Given the description of an element on the screen output the (x, y) to click on. 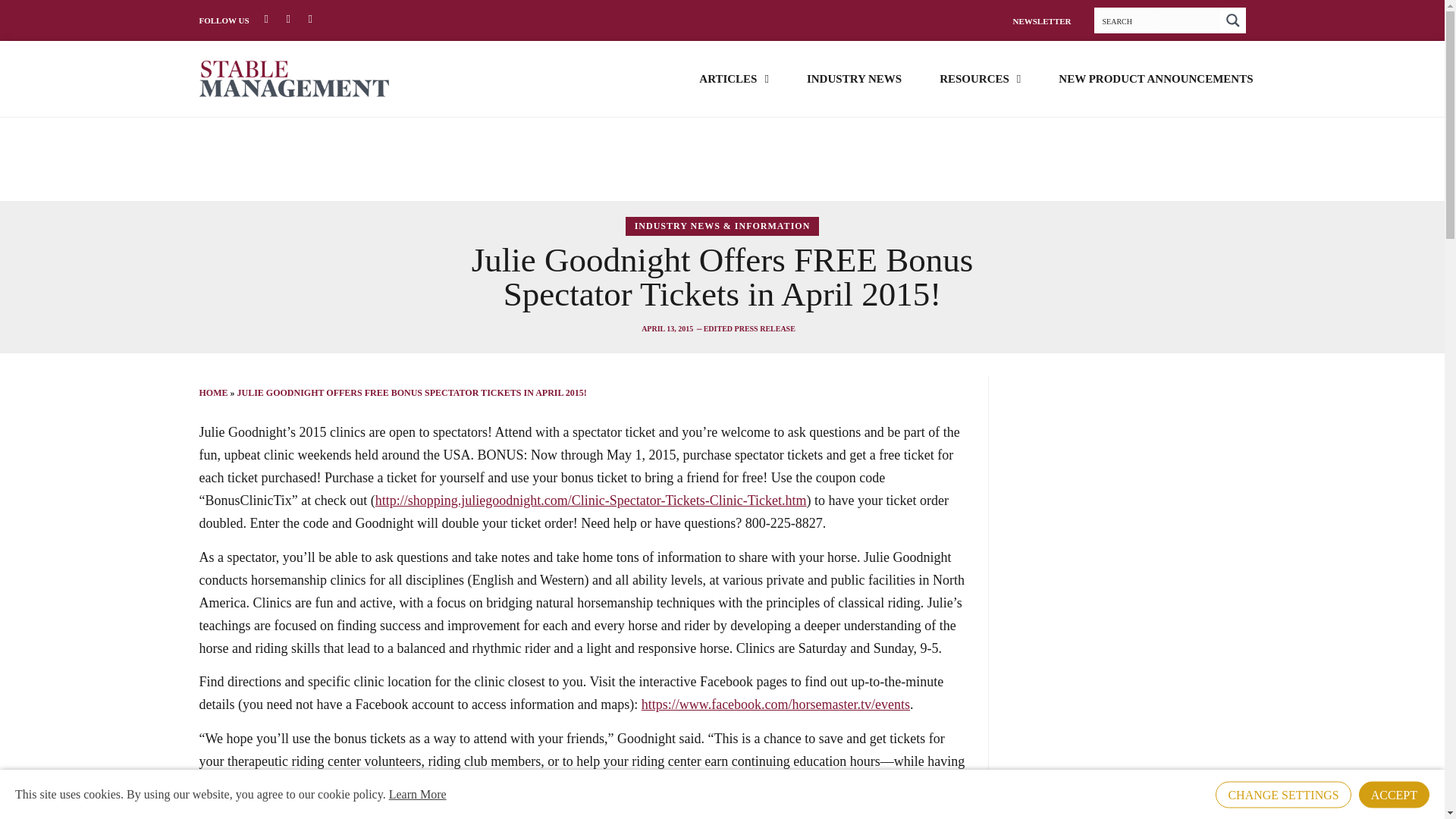
NEW PRODUCT ANNOUNCEMENTS (1155, 78)
3rd party ad content (721, 159)
INDUSTRY NEWS (853, 78)
RESOURCES (979, 78)
NEWSLETTER (1040, 20)
ARTICLES (733, 78)
